Given the description of an element on the screen output the (x, y) to click on. 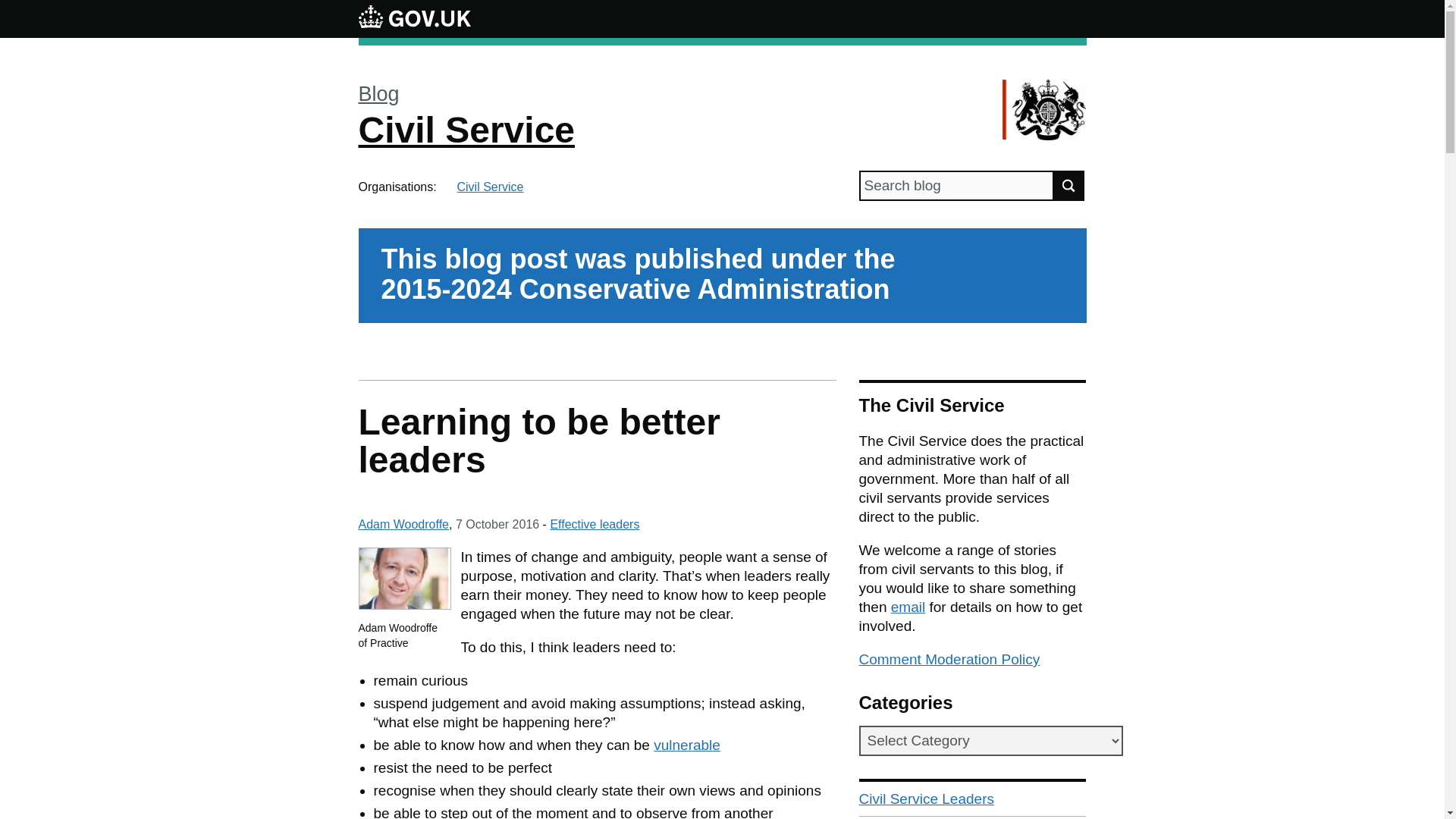
Civil Service Leaders (972, 799)
Civil Service (489, 186)
Adam Woodroffe (403, 523)
Search (1069, 185)
Go to the GOV.UK homepage (414, 18)
Search (1069, 185)
Posts by Adam Woodroffe (403, 523)
GOV.UK (414, 18)
Civil Service (466, 129)
email (907, 606)
Blog (378, 93)
Effective leaders (594, 523)
vulnerable (686, 744)
Comment Moderation Policy (949, 659)
